Given the description of an element on the screen output the (x, y) to click on. 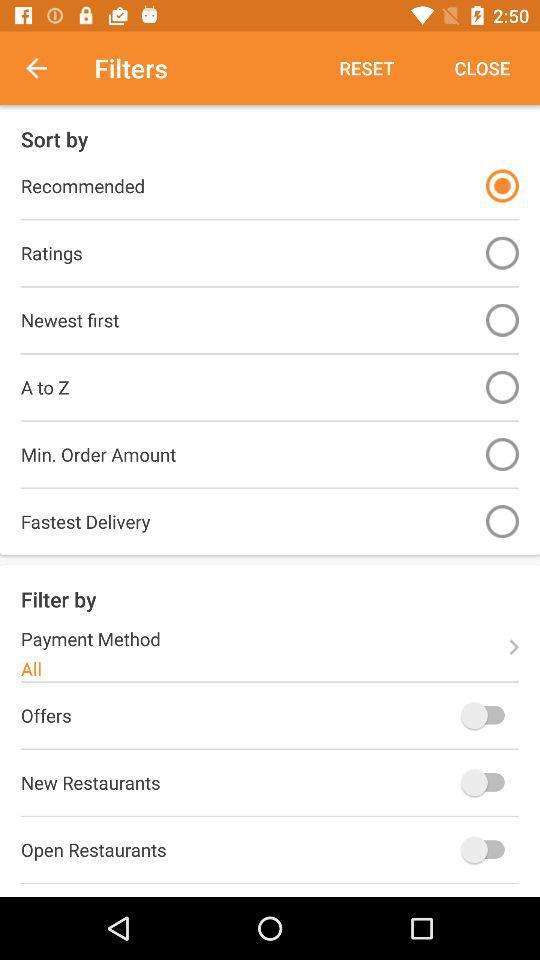
select sort by option (502, 386)
